Given the description of an element on the screen output the (x, y) to click on. 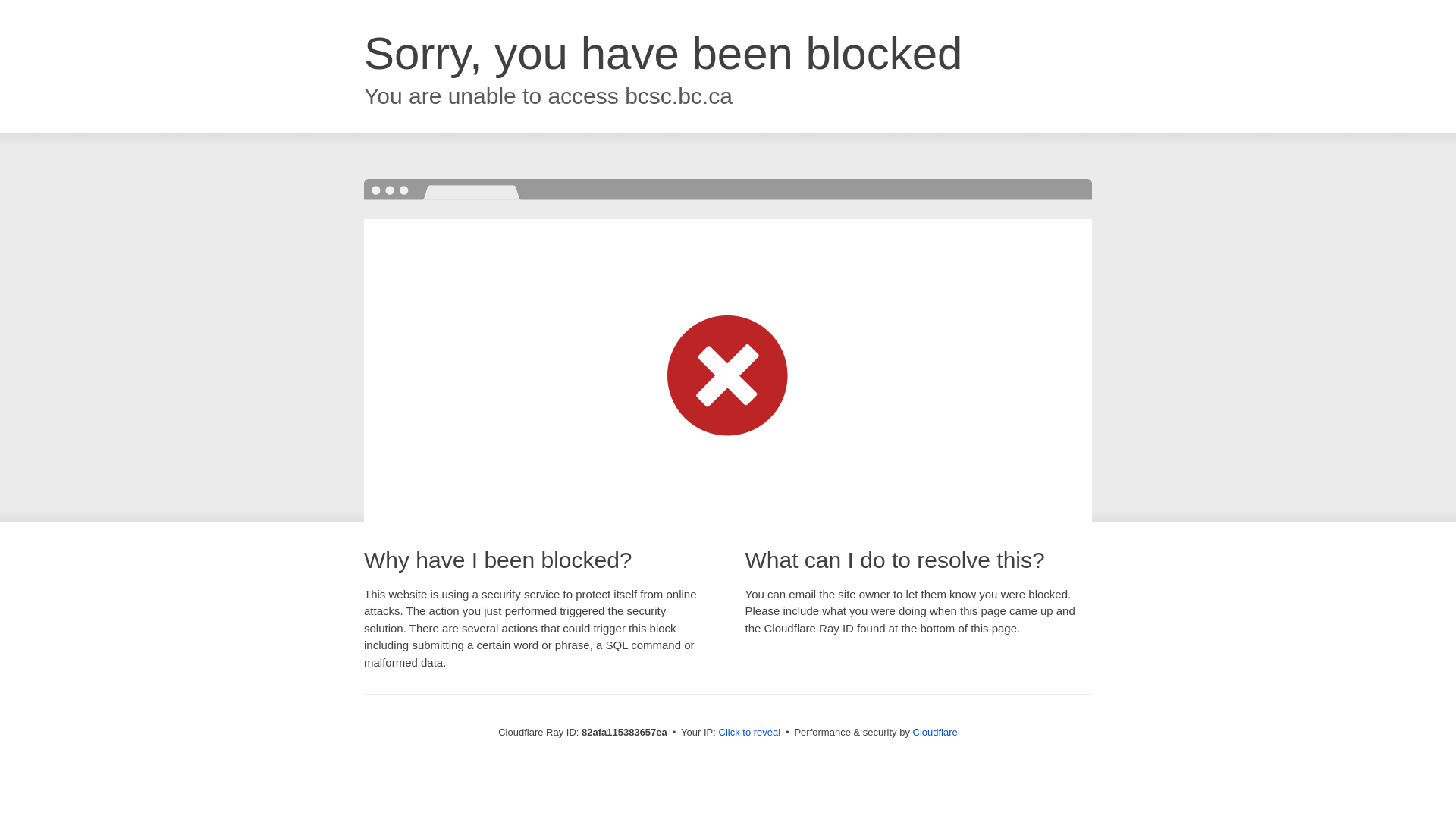
Cloudflare Element type: text (935, 731)
Click to reveal Element type: text (749, 732)
